Given the description of an element on the screen output the (x, y) to click on. 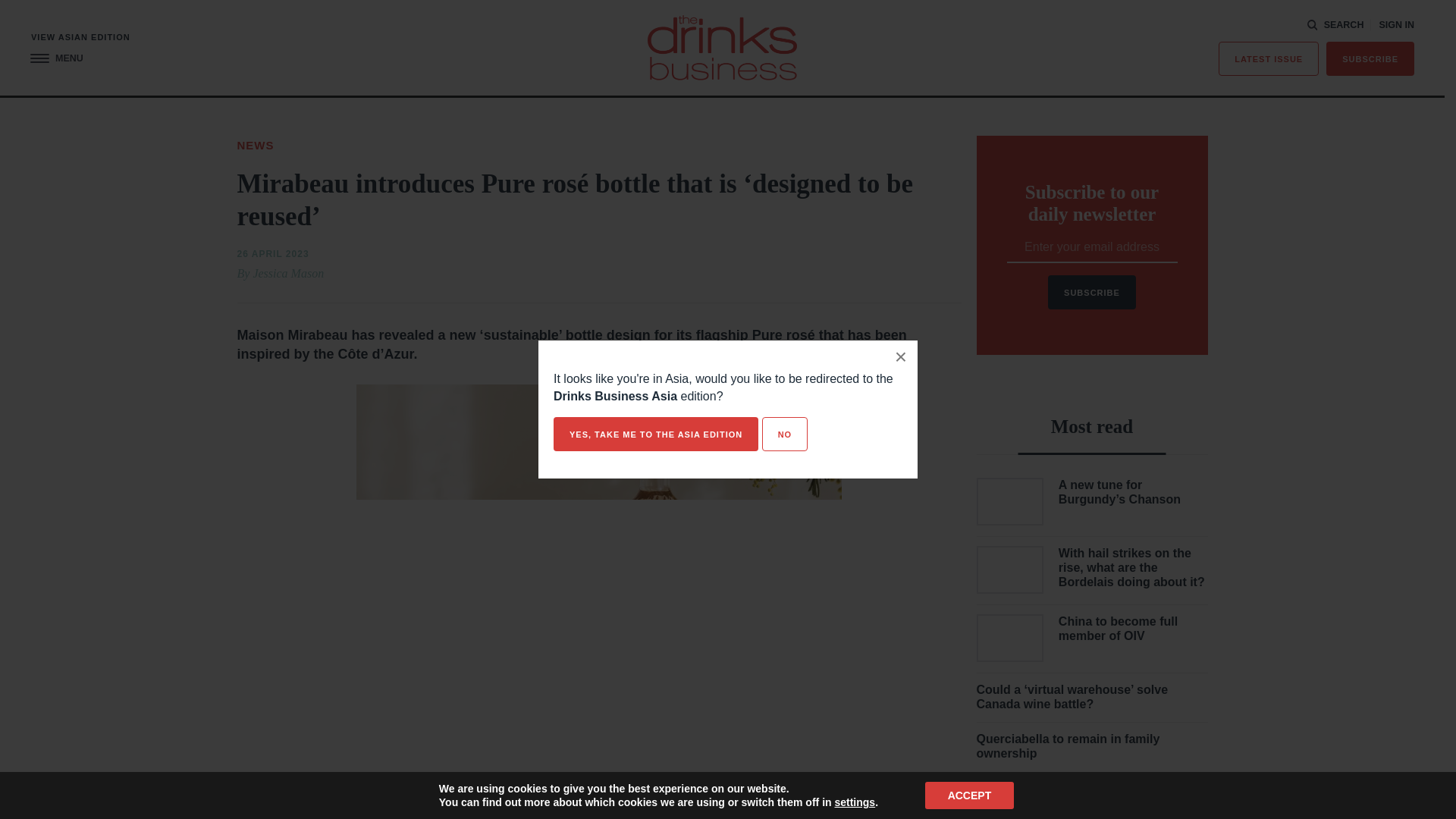
LATEST ISSUE (1268, 58)
YES, TAKE ME TO THE ASIA EDITION (655, 433)
SIGN IN (1395, 25)
VIEW ASIAN EDITION (80, 37)
The Drinks Business (721, 47)
NO (784, 433)
SUBSCRIBE (1369, 58)
